Given the description of an element on the screen output the (x, y) to click on. 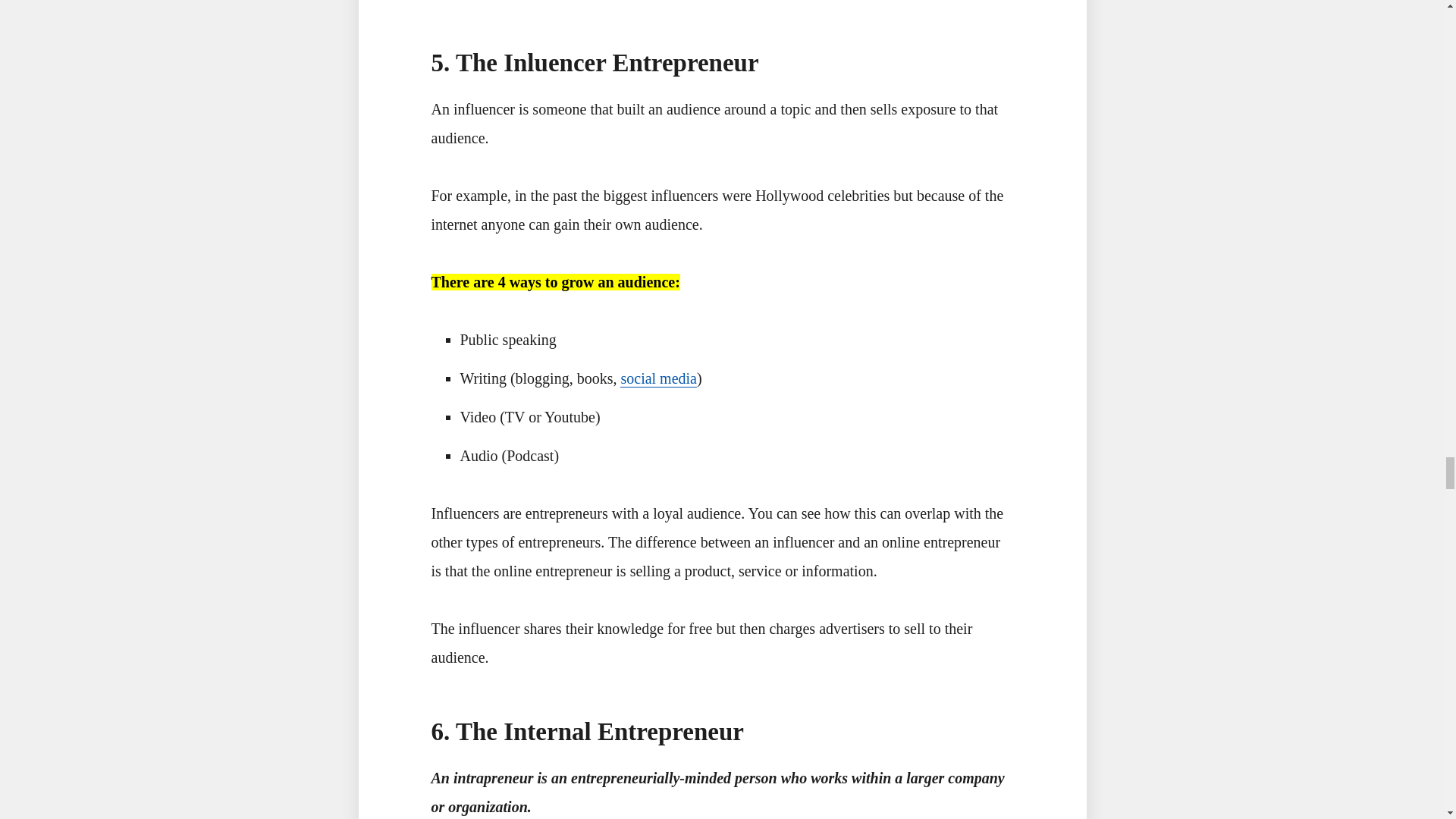
social media (658, 378)
